Given the description of an element on the screen output the (x, y) to click on. 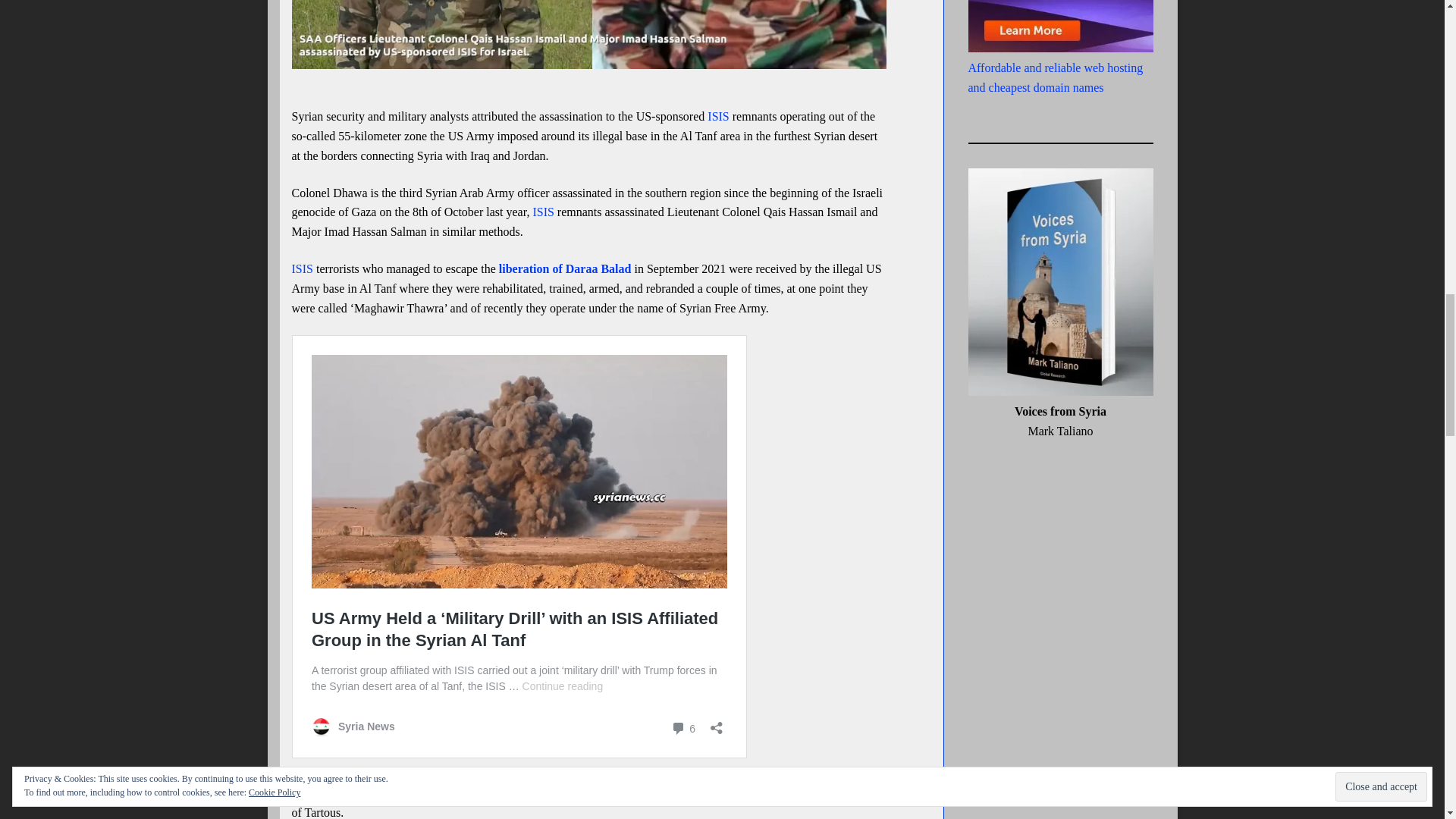
ISIS (302, 268)
liberation of Daraa Balad (565, 268)
ISIS (718, 115)
ISIS (542, 211)
